Given the description of an element on the screen output the (x, y) to click on. 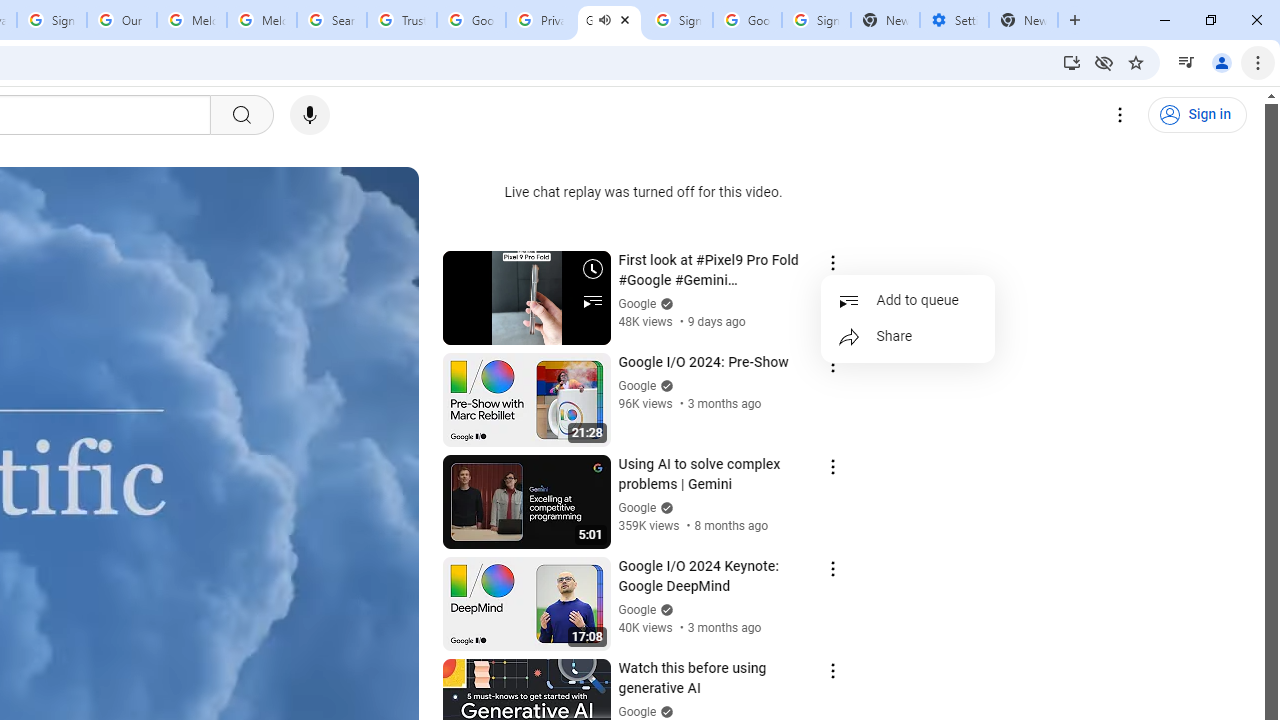
Sign in - Google Accounts (51, 20)
Share (907, 336)
Action menu (832, 670)
